Given the description of an element on the screen output the (x, y) to click on. 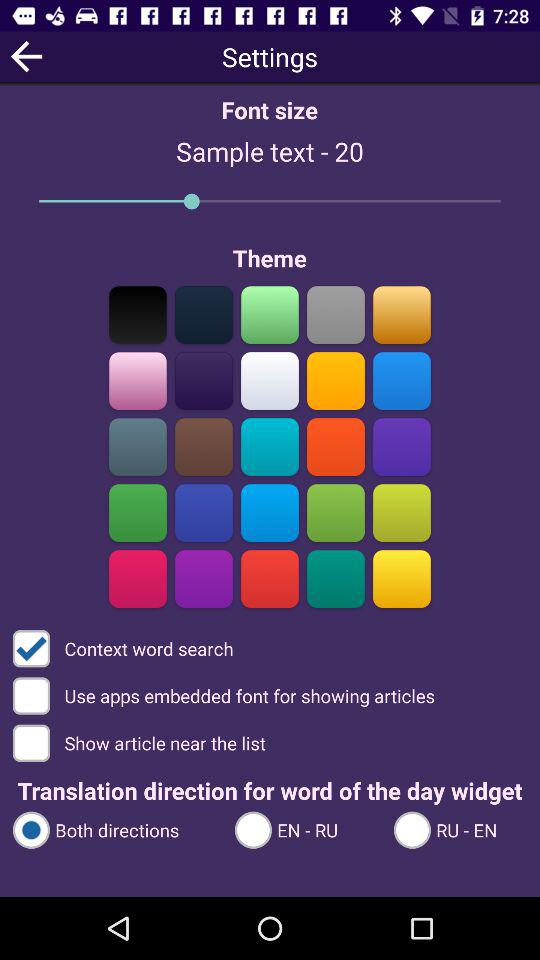
go green (137, 512)
